Given the description of an element on the screen output the (x, y) to click on. 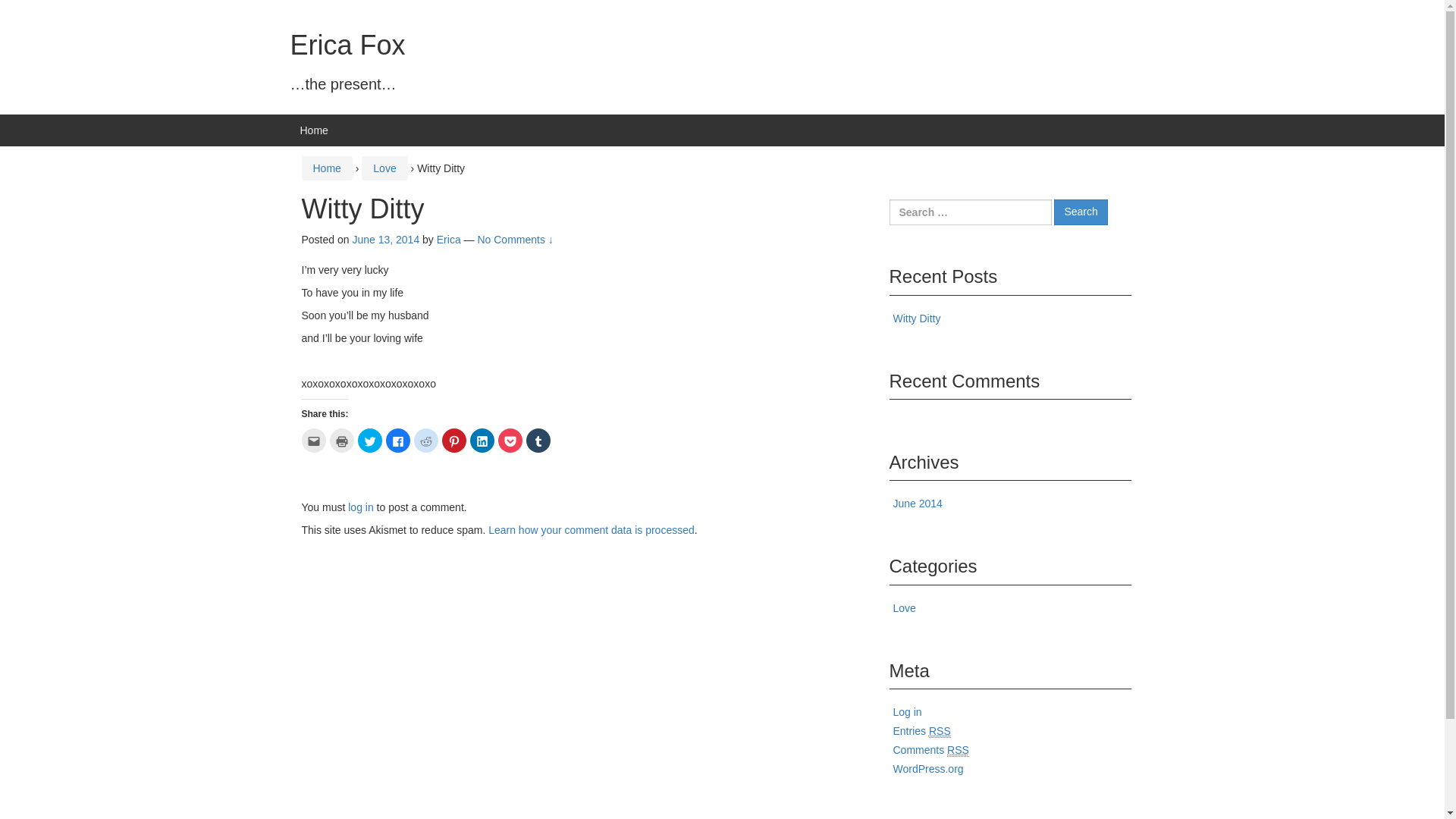
Click to share on Pocket (Opens in new window) Element type: text (509, 440)
Witty Ditty Element type: text (917, 318)
Click to share on Pinterest (Opens in new window) Element type: text (453, 440)
Click to print (Opens in new window) Element type: text (341, 440)
Erica Element type: text (448, 239)
Learn how your comment data is processed Element type: text (591, 530)
June 2014 Element type: text (917, 503)
Log in Element type: text (907, 712)
Home Element type: text (314, 130)
Entries RSS Element type: text (921, 730)
Click to email this to a friend (Opens in new window) Element type: text (313, 440)
Click to share on Twitter (Opens in new window) Element type: text (369, 440)
Love Element type: text (384, 168)
log in Element type: text (360, 507)
Click to share on Reddit (Opens in new window) Element type: text (426, 440)
Search Element type: text (1080, 212)
Click to share on Tumblr (Opens in new window) Element type: text (538, 440)
Comments RSS Element type: text (931, 749)
June 13, 2014 Element type: text (385, 239)
Home Element type: text (326, 168)
Click to share on LinkedIn (Opens in new window) Element type: text (482, 440)
Erica Fox Element type: text (346, 44)
Love Element type: text (904, 608)
Click to share on Facebook (Opens in new window) Element type: text (397, 440)
WordPress.org Element type: text (928, 768)
